Given the description of an element on the screen output the (x, y) to click on. 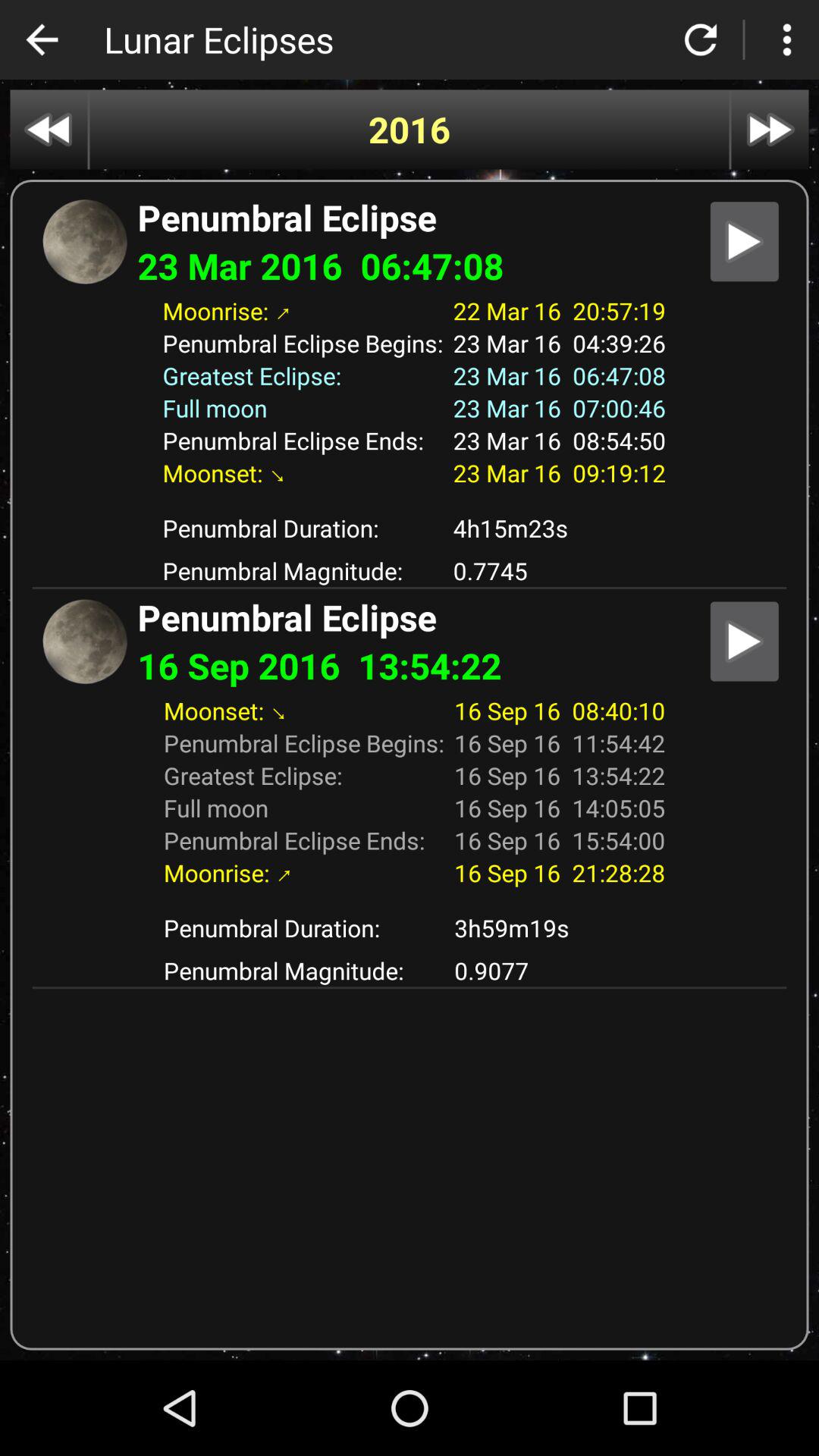
launch the app above penumbral magnitude: icon (559, 527)
